Given the description of an element on the screen output the (x, y) to click on. 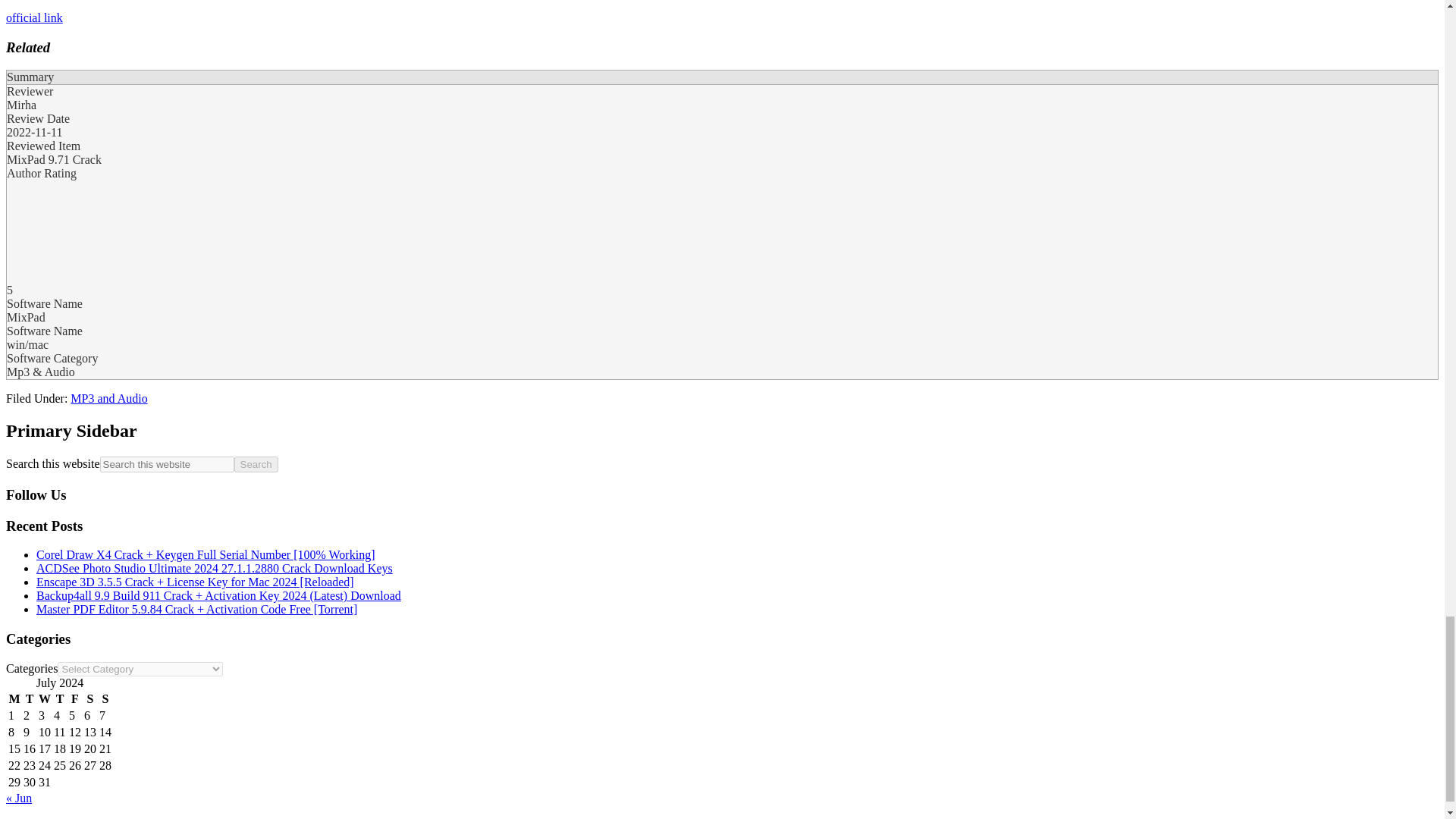
Search (256, 464)
official link (33, 17)
Search (256, 464)
Search (256, 464)
MP3 and Audio (108, 398)
